Given the description of an element on the screen output the (x, y) to click on. 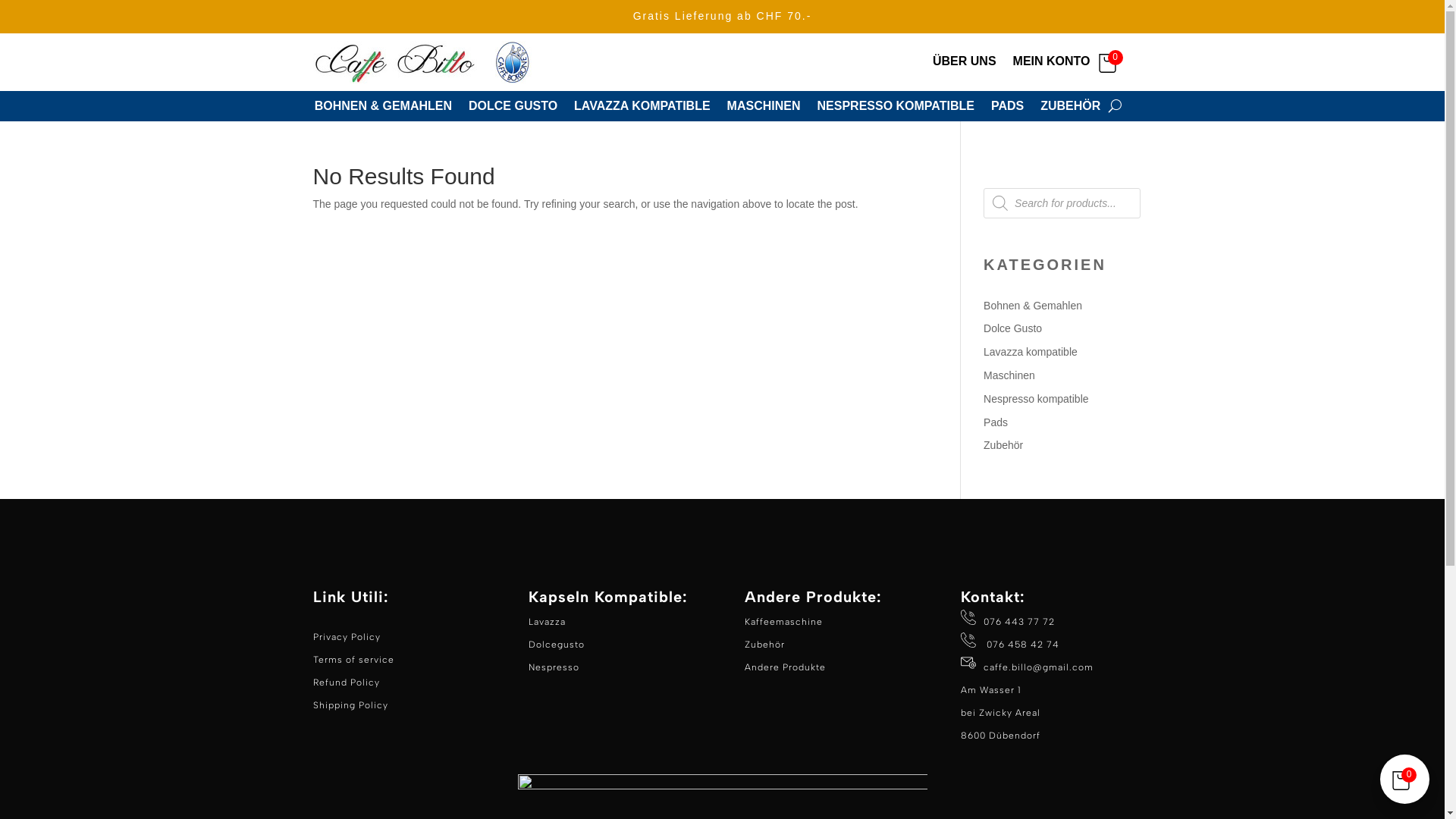
0 Element type: text (1404, 778)
Kaffeemaschine Element type: text (783, 621)
Nespresso Element type: text (553, 667)
MASCHINEN Element type: text (763, 108)
Andere Produkte Element type: text (784, 667)
DOLCE GUSTO Element type: text (512, 108)
Lavazza Element type: text (546, 621)
Terms of service Element type: text (352, 659)
BOHNEN & GEMAHLEN Element type: text (382, 108)
Maschinen Element type: text (1009, 375)
076 443 77 72 Element type: text (1007, 632)
caffe.billo@gmail.com Element type: text (1038, 667)
PADS Element type: text (1007, 108)
Bohnen & Gemahlen Element type: text (1032, 305)
NESPRESSO KOMPATIBLE Element type: text (895, 108)
Privacy Policy Element type: text (345, 636)
Lavazza kompatible Element type: text (1030, 351)
Pads Element type: text (995, 422)
Dolce Gusto Element type: text (1012, 328)
ahdd6-afs0n Element type: hover (425, 61)
Nespresso kompatible Element type: text (1035, 398)
0 Element type: text (1111, 61)
Refund Policy
Shipping Policy Element type: text (349, 693)
076 458 42 74 Element type: text (1021, 644)
LAVAZZA KOMPATIBLE Element type: text (642, 108)
Dolcegusto Element type: text (556, 644)
MEIN KONTO Element type: text (1051, 64)
